Given the description of an element on the screen output the (x, y) to click on. 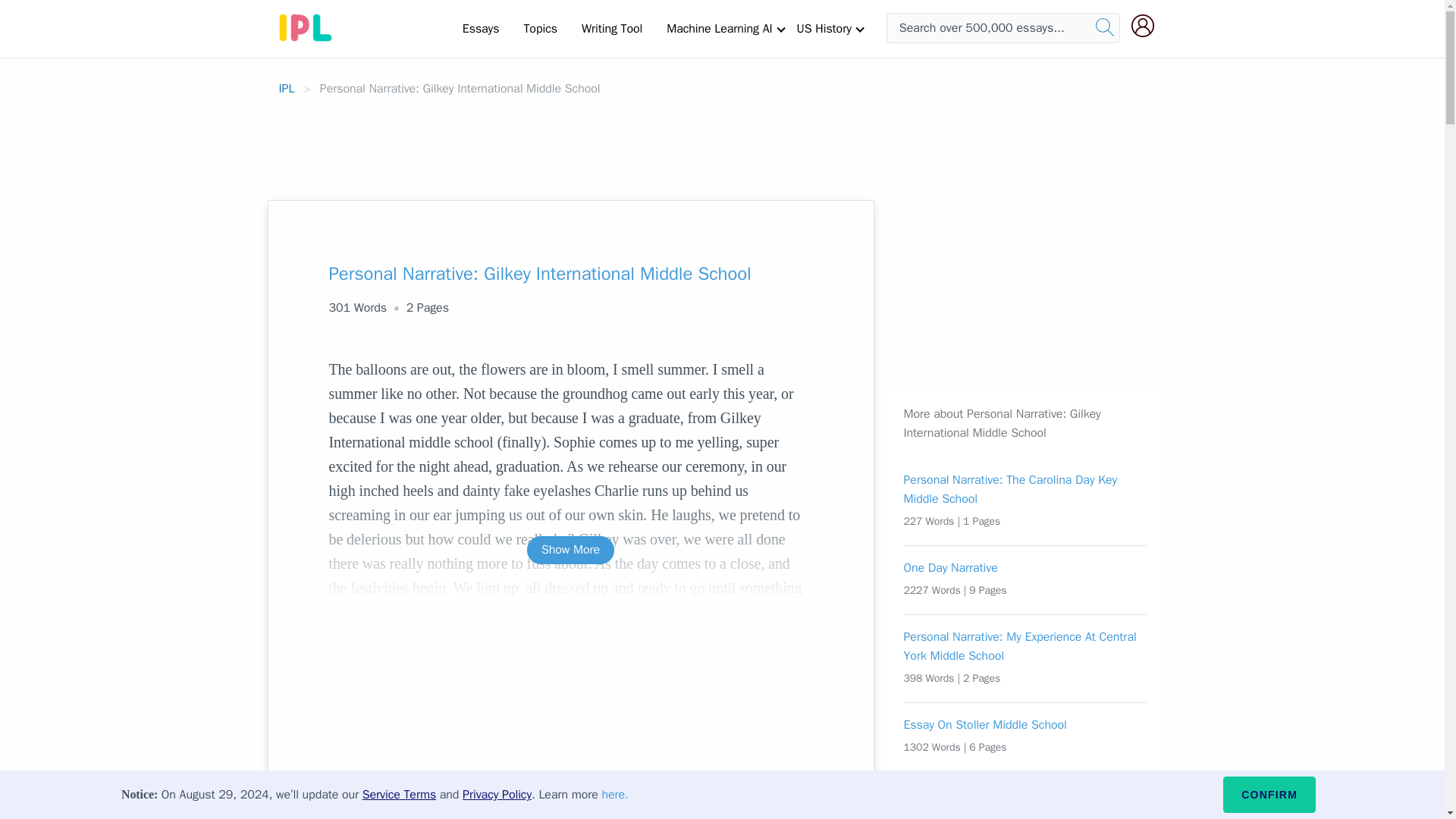
Essays (480, 28)
US History (823, 28)
Show More (570, 550)
Writing Tool (611, 28)
Topics (540, 28)
Machine Learning AI (718, 28)
IPL (287, 88)
